Given the description of an element on the screen output the (x, y) to click on. 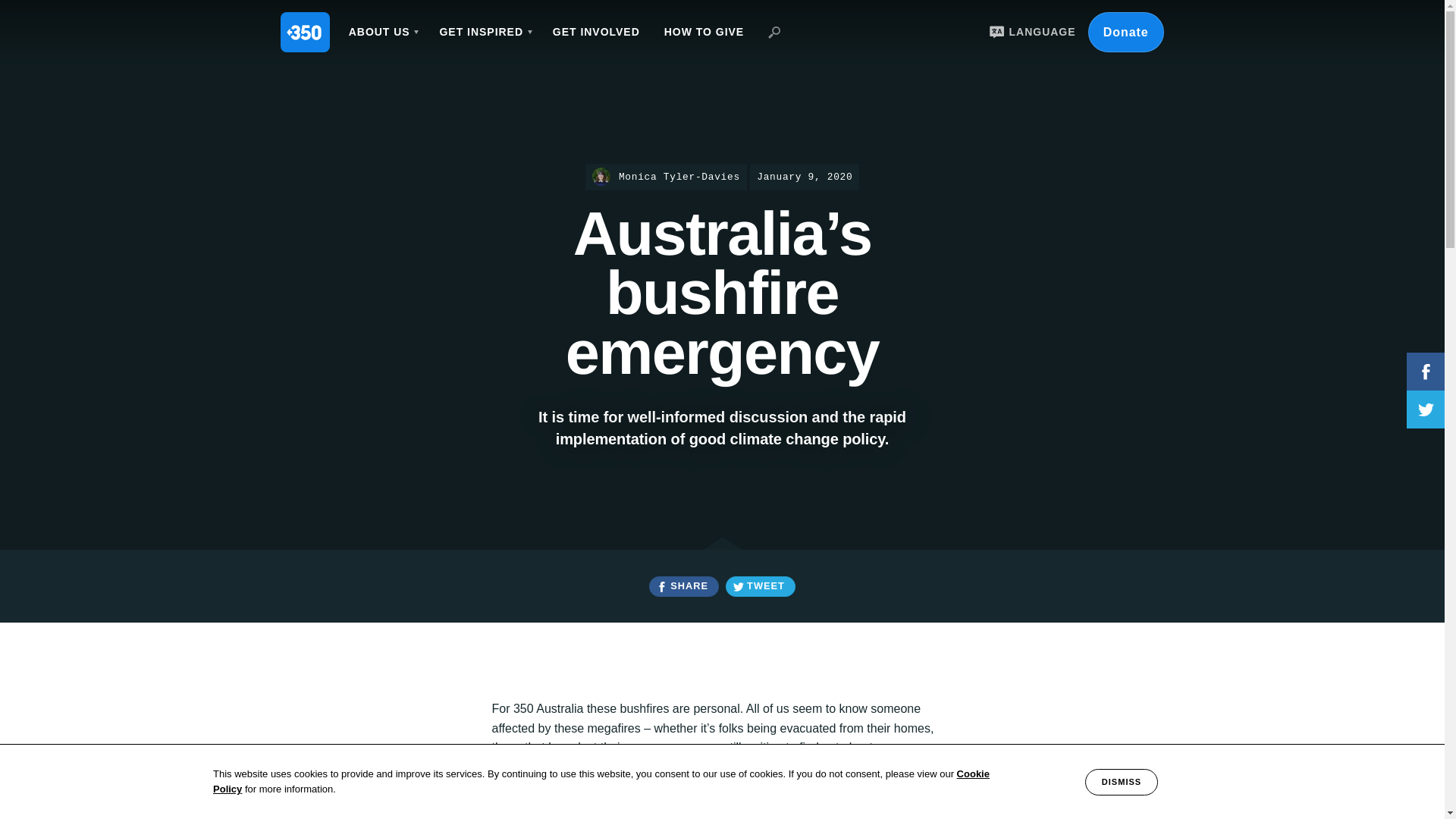
LANGUAGE (1029, 32)
ABOUT US (382, 32)
350 (305, 32)
GET INVOLVED (596, 32)
GET INSPIRED (483, 32)
Donate (1125, 32)
HOW TO GIVE (703, 32)
SHARE (683, 586)
TWEET (759, 586)
